Given the description of an element on the screen output the (x, y) to click on. 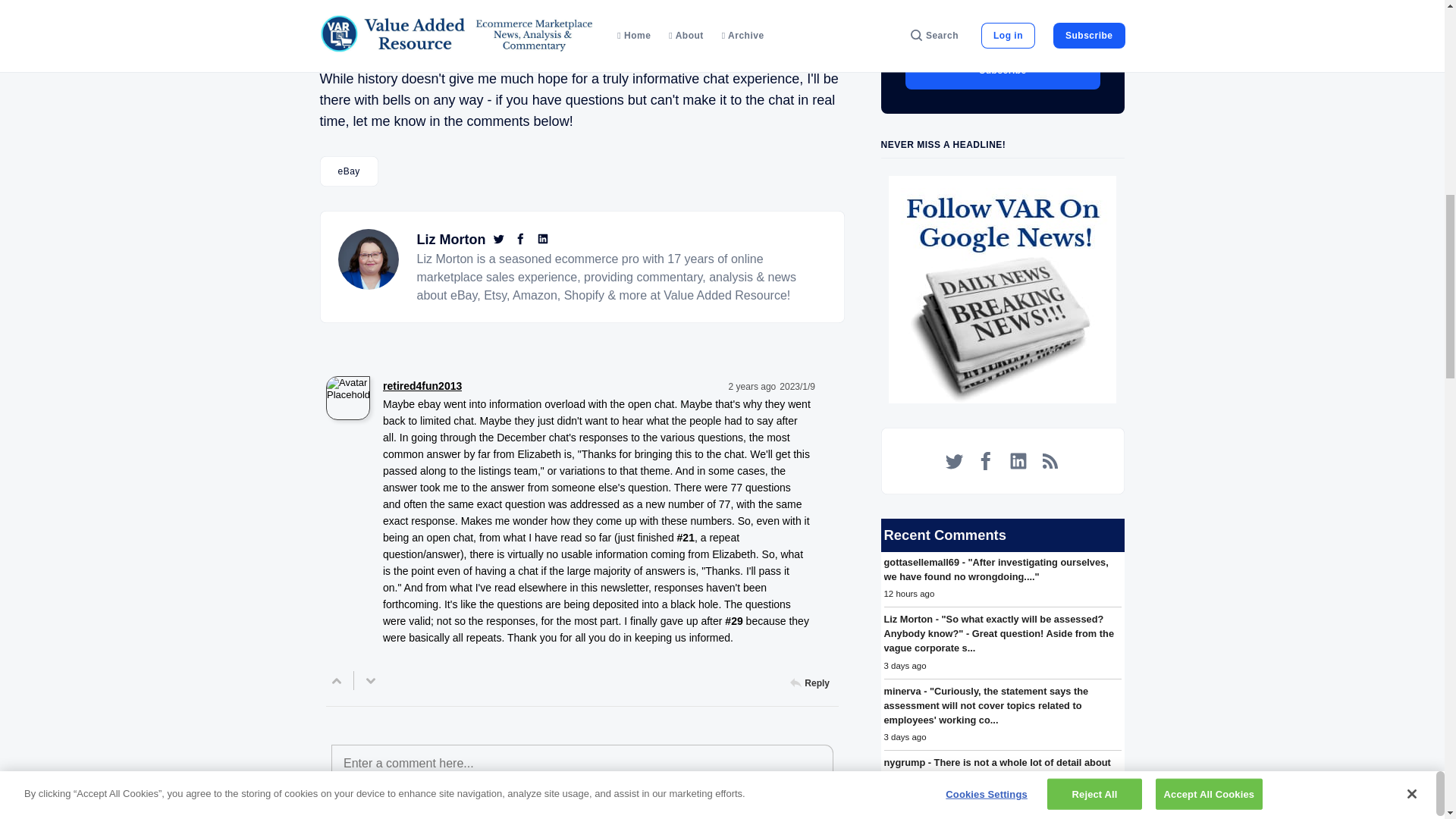
LinkedIn (542, 239)
Liz Morton (451, 239)
eBay (349, 171)
Facebook (523, 239)
Twitter (500, 239)
